Given the description of an element on the screen output the (x, y) to click on. 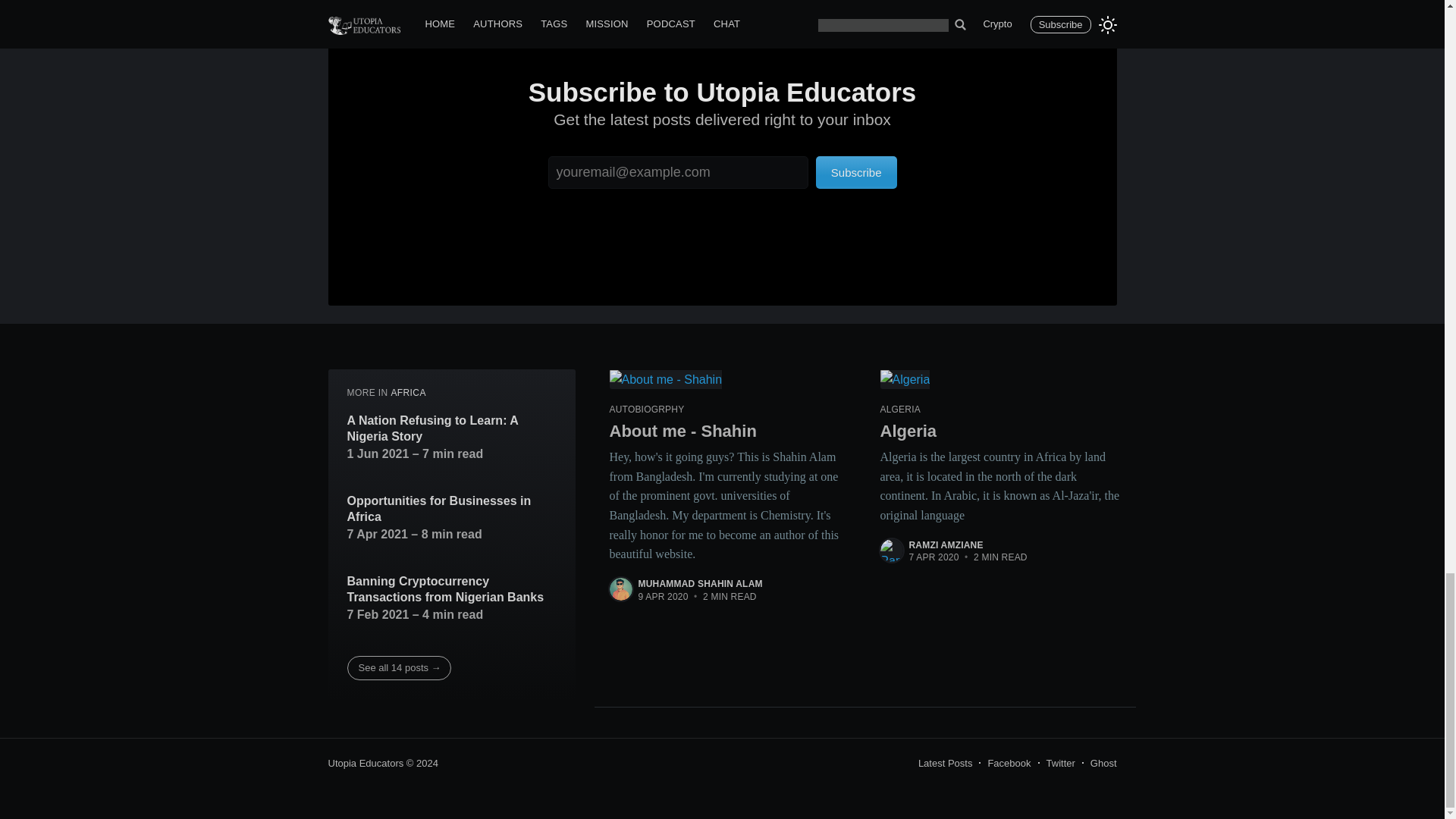
MUHAMMAD SHAHIN ALAM (700, 583)
Banning Cryptocurrency Transactions from Nigerian Banks (451, 589)
Facebook (1008, 763)
Opportunities for Businesses in Africa (451, 509)
Latest Posts (945, 763)
Utopia Educators (365, 763)
AFRICA (407, 392)
Subscribe (855, 172)
